Given the description of an element on the screen output the (x, y) to click on. 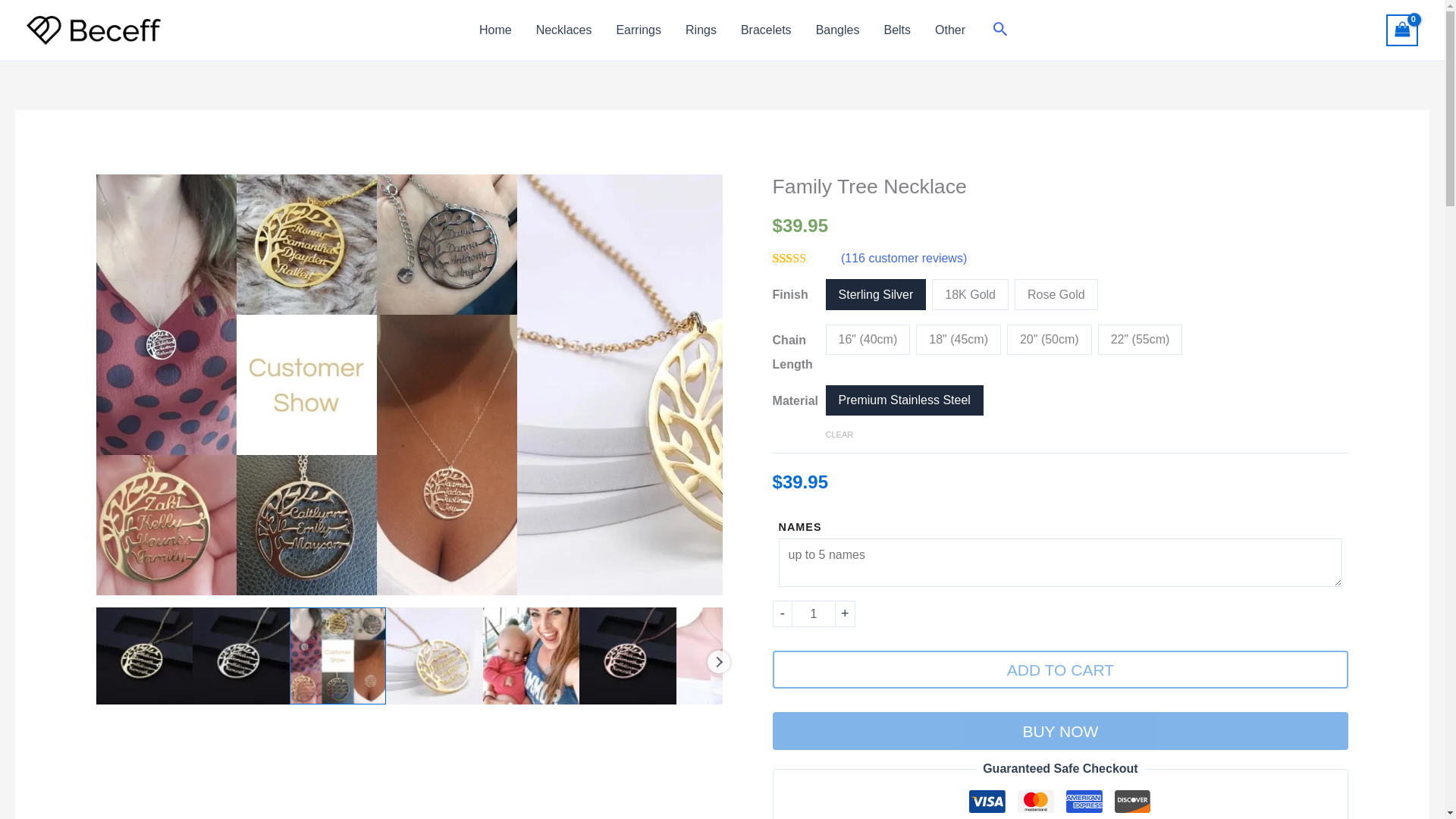
Rings (700, 30)
Next (717, 661)
1 (813, 613)
Bracelets (766, 30)
Home (495, 30)
1 (48, 384)
Earrings (638, 30)
CLEAR (839, 434)
Bangles (837, 30)
Belts (896, 30)
Necklaces (564, 30)
Other (949, 30)
